Given the description of an element on the screen output the (x, y) to click on. 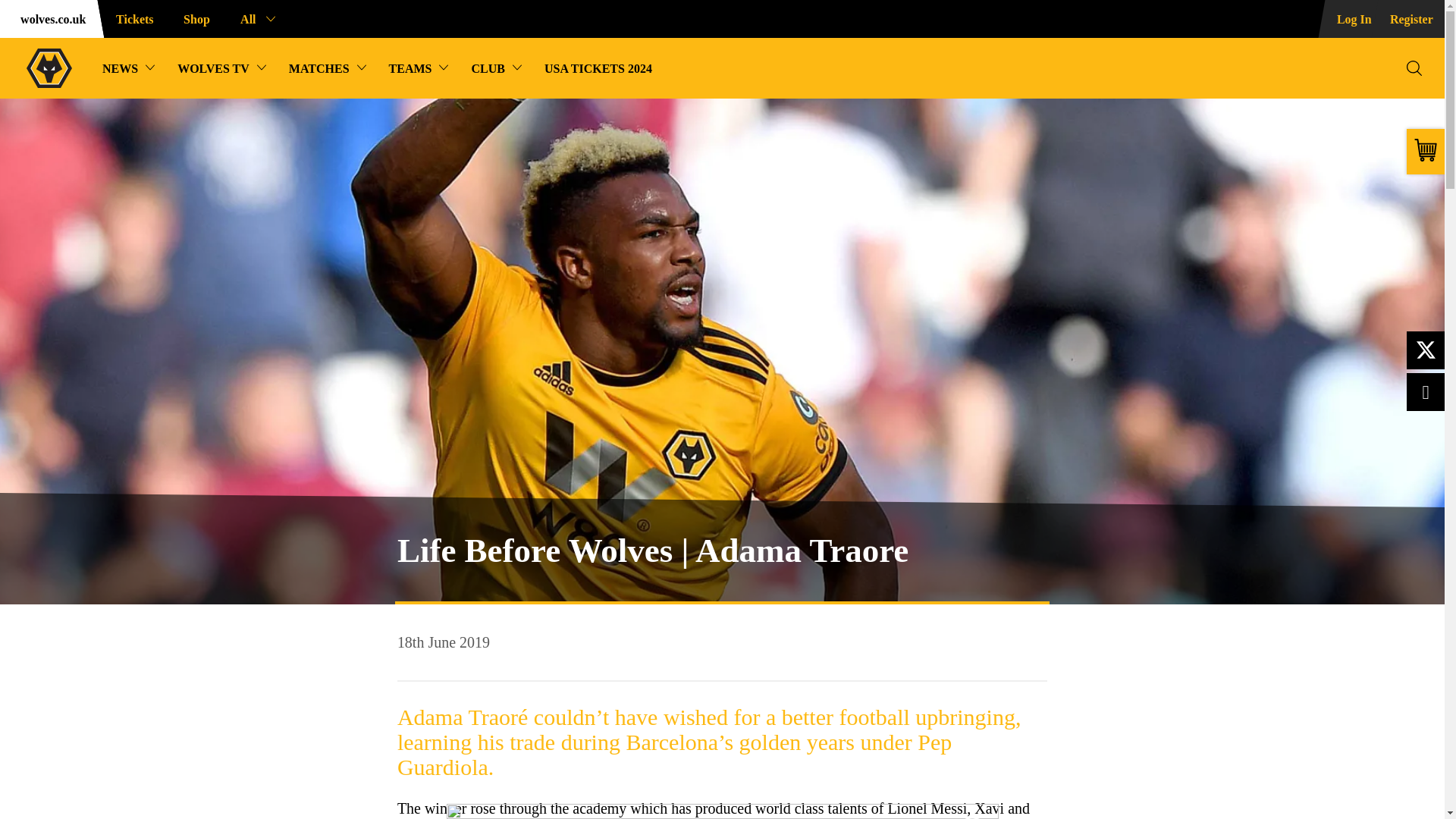
Log In (1346, 18)
All (254, 18)
Skip to content (12, 12)
wolves.co.uk (48, 18)
Tickets (130, 18)
Shop (193, 18)
